Given the description of an element on the screen output the (x, y) to click on. 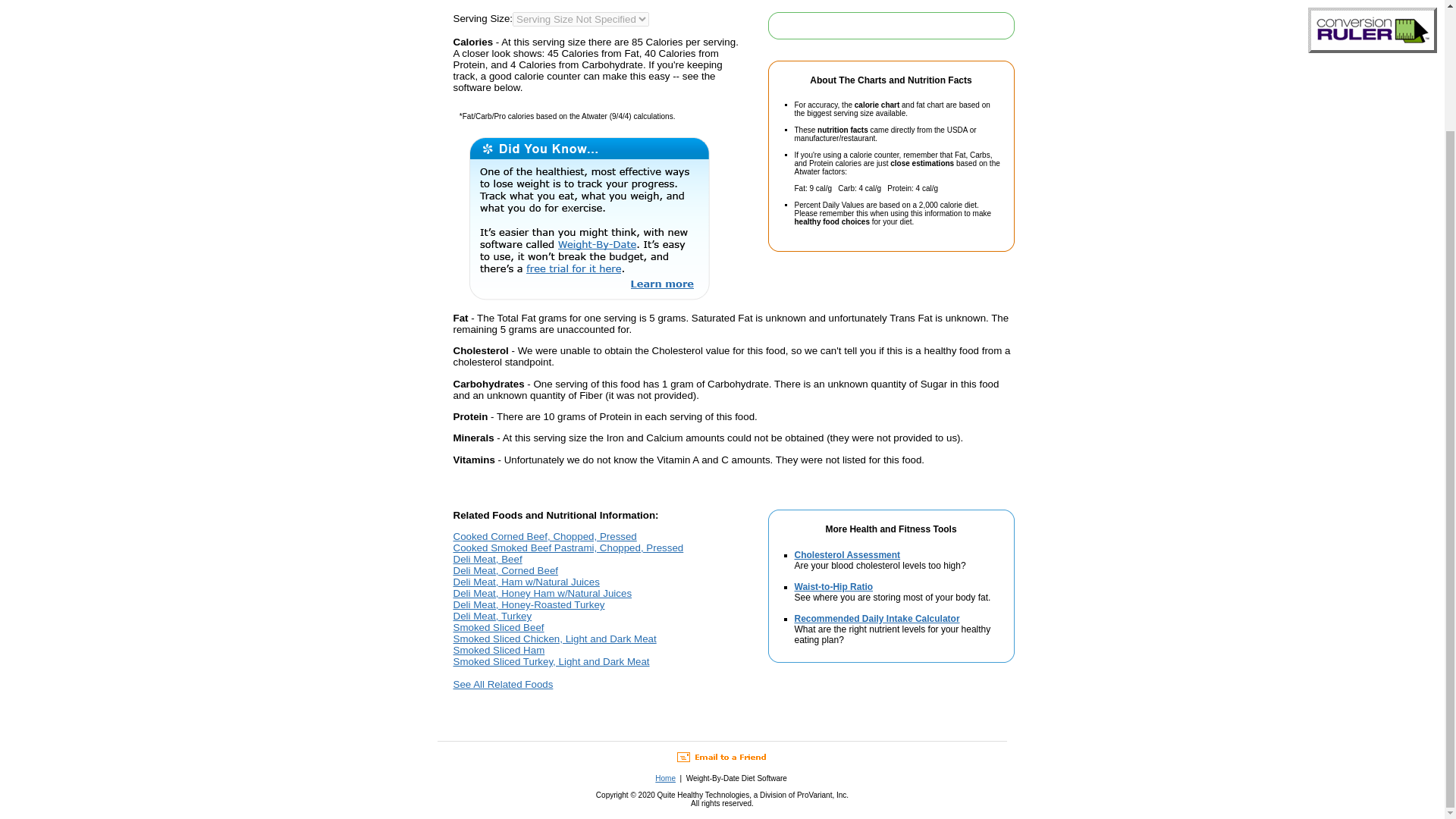
Smoked Sliced Turkey, Light and Dark Meat (550, 661)
Deli Meat, Corned Beef (505, 570)
Cooked Corned Beef, Chopped, Pressed (544, 536)
Cooked Smoked Beef Pastrami, Chopped, Pressed (568, 547)
Waist-to-Hip Ratio (833, 586)
Deli Meat, Turkey (492, 615)
Deli Meat, Beef (487, 559)
Cholesterol Assessment (847, 554)
Smoked Sliced Ham (498, 650)
Deli Meat, Honey-Roasted Turkey (528, 604)
